Given the description of an element on the screen output the (x, y) to click on. 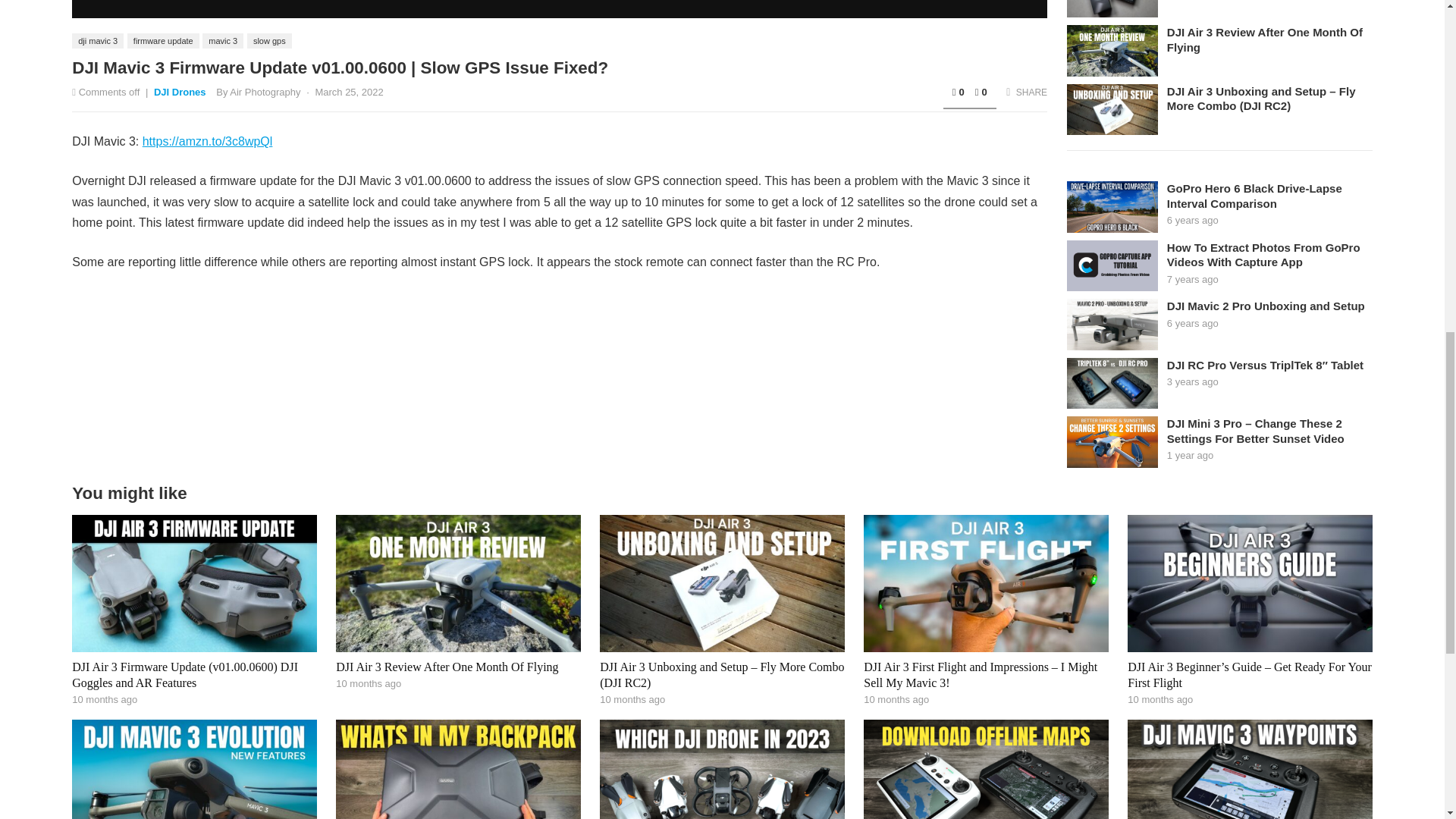
Posts by Air Photography (264, 91)
